Given the description of an element on the screen output the (x, y) to click on. 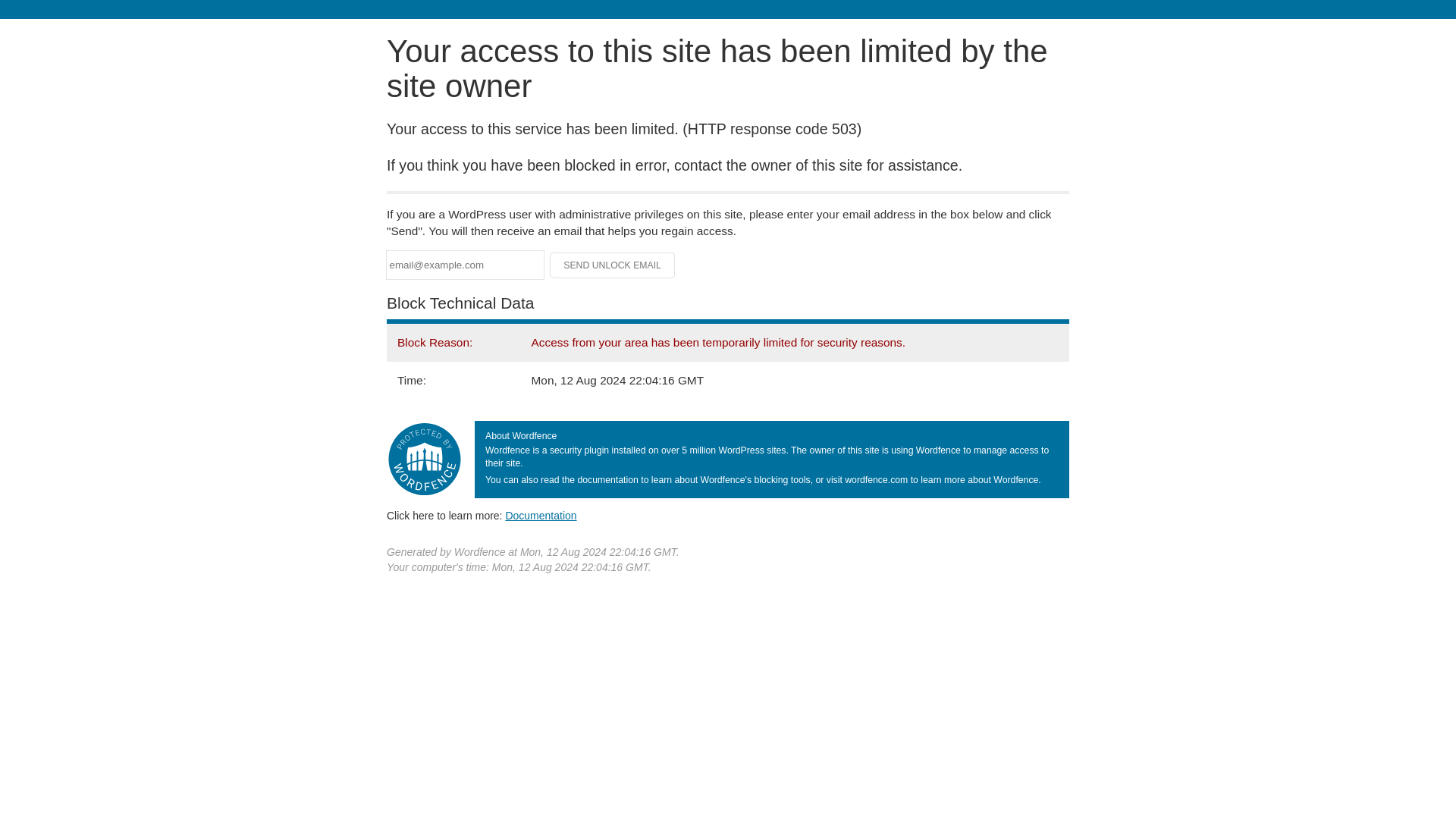
Documentation (540, 515)
Send Unlock Email (612, 265)
Send Unlock Email (612, 265)
